Given the description of an element on the screen output the (x, y) to click on. 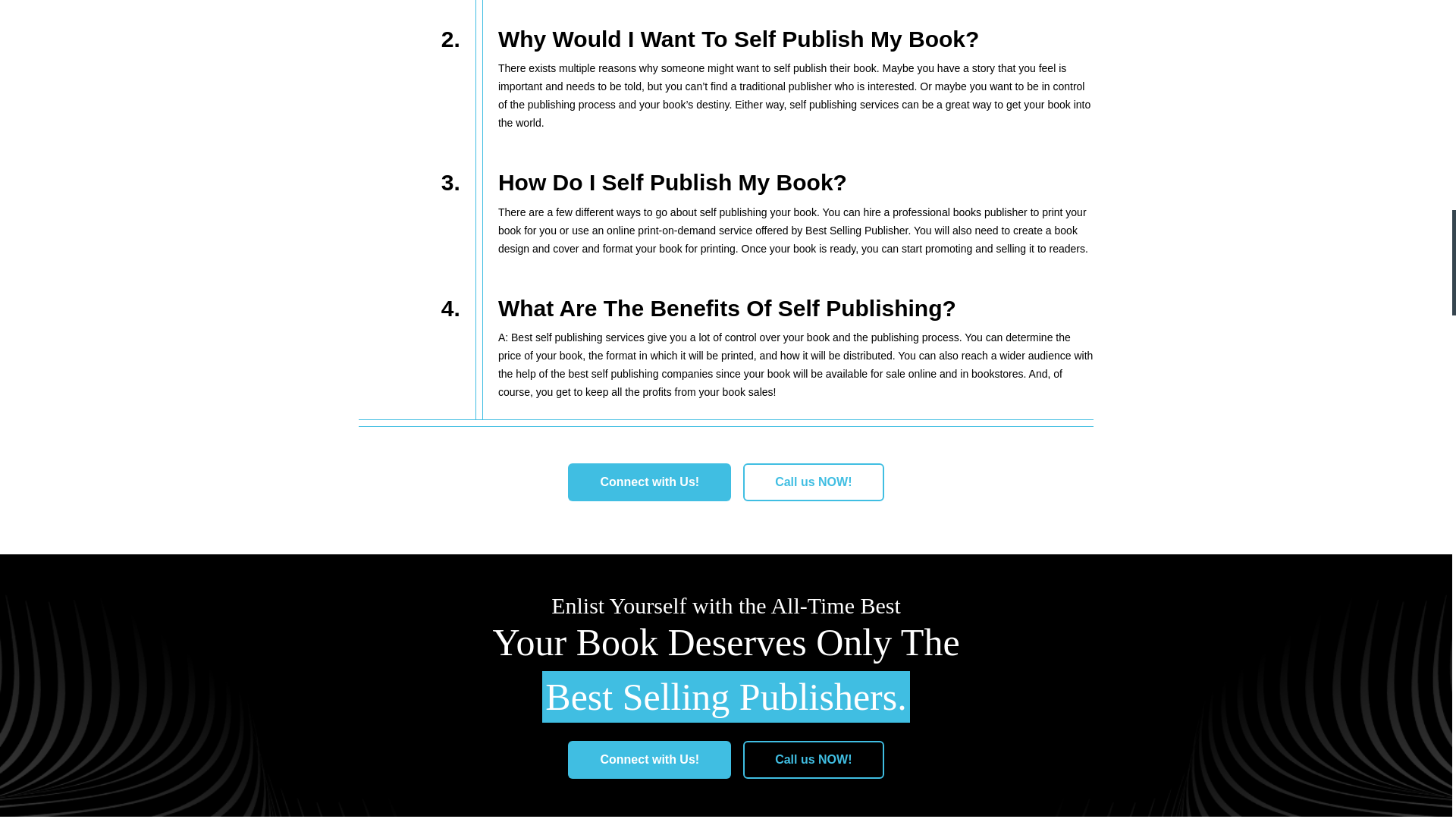
Connect with Us! (648, 482)
Connect with Us! (648, 759)
Call us NOW! (812, 482)
Call us NOW! (812, 759)
